Given the description of an element on the screen output the (x, y) to click on. 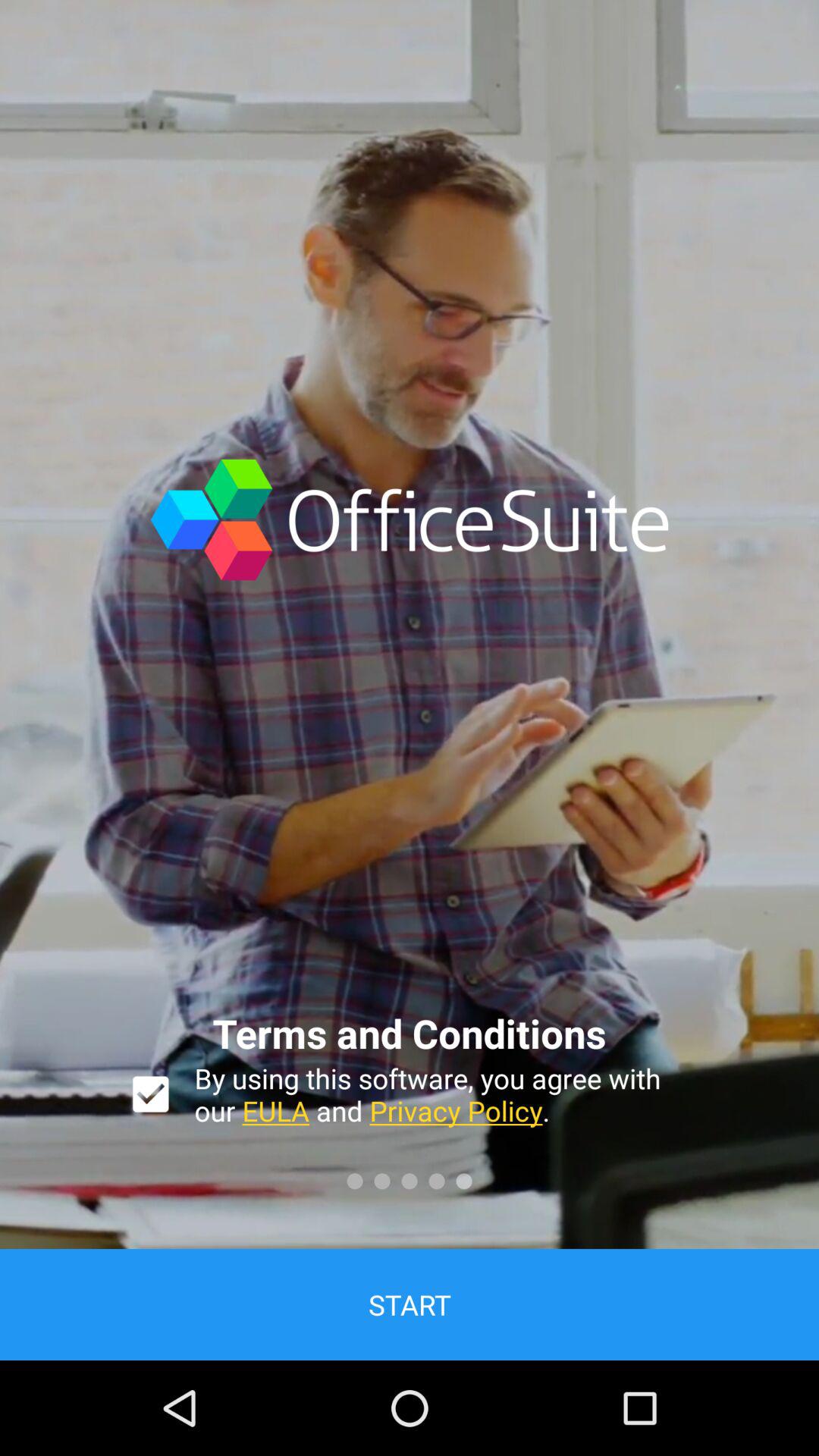
select the second circle which is above start button on page (381, 1181)
select the fourth circle symbol below privacy policy (436, 1181)
